Given the description of an element on the screen output the (x, y) to click on. 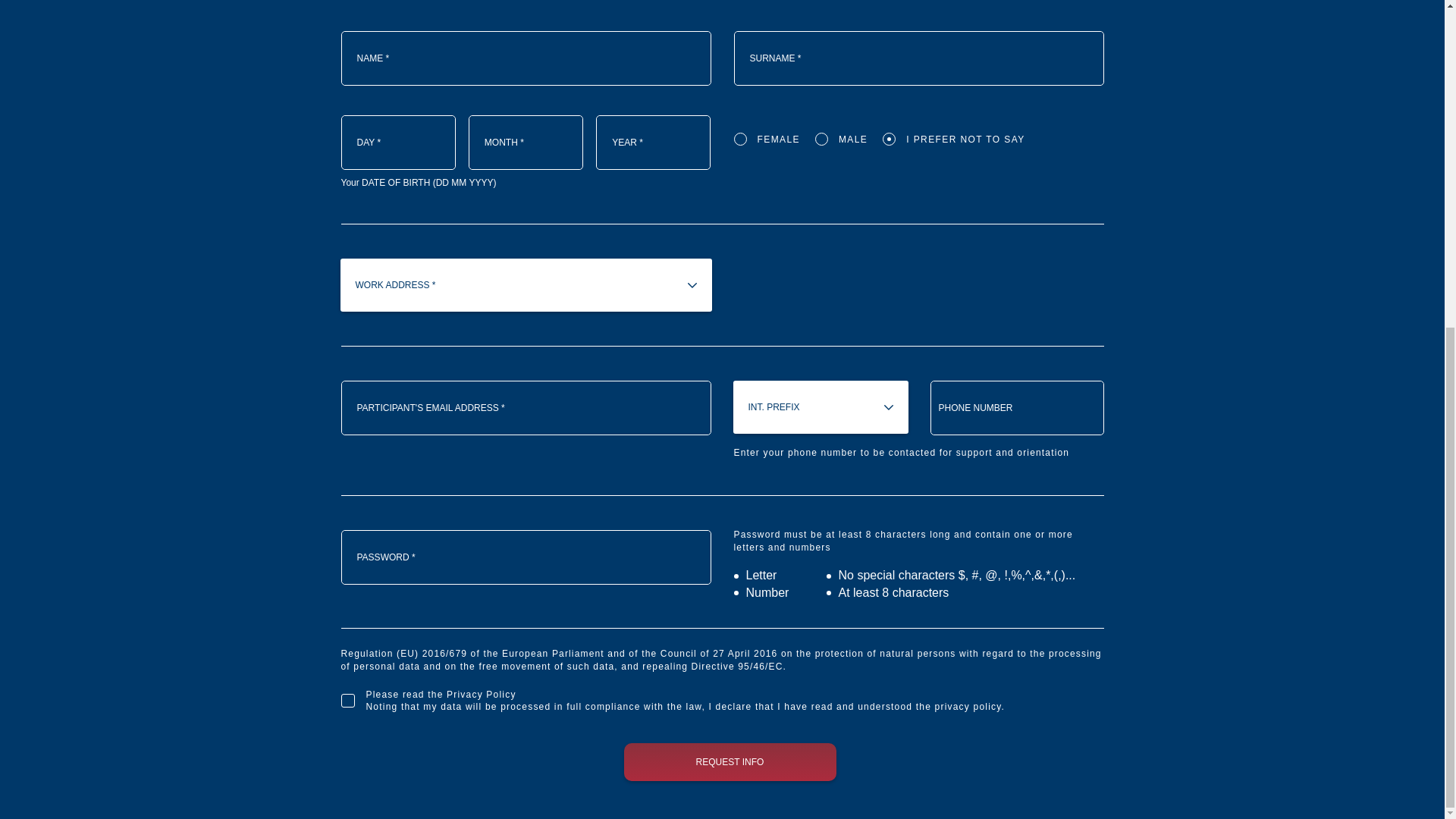
REQUEST INFO (729, 761)
Privacy Policy (480, 694)
